Given the description of an element on the screen output the (x, y) to click on. 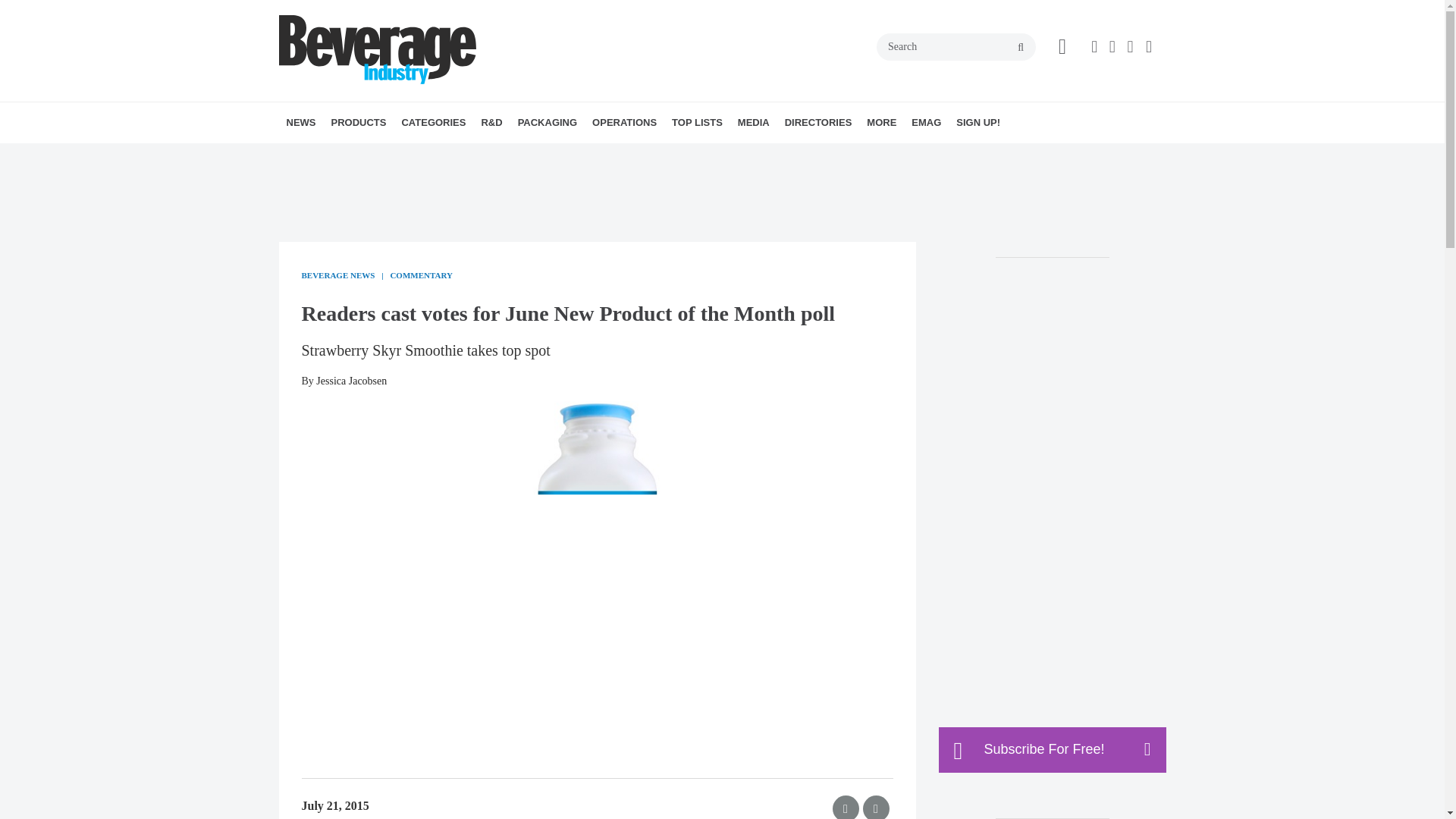
CATEGORIES (433, 122)
PACKAGING MATERIAL (617, 155)
PLANT-BASED BEVERAGES (522, 155)
SUPPLIER NEWS (380, 155)
CARBONATED SOFT DRINKS (512, 155)
NEWS (301, 122)
Search (955, 46)
PACKAGING EQUIPMENT (611, 155)
ALTERNATIVE DRINKS (488, 155)
PACKAGING (548, 122)
